Given the description of an element on the screen output the (x, y) to click on. 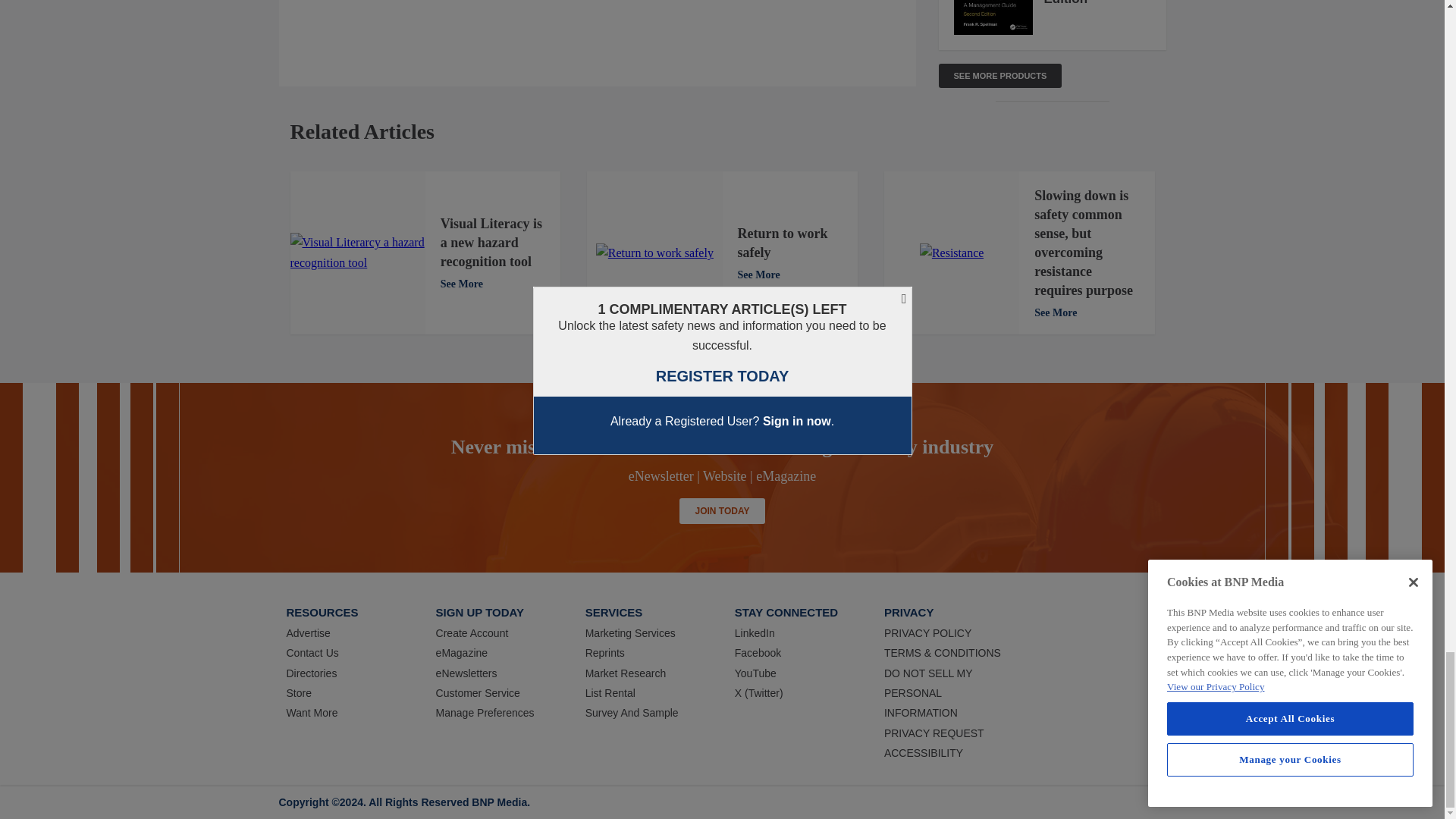
Return to work safely   (654, 252)
Visual Literarcy a hazard recognition tool (357, 252)
